Given the description of an element on the screen output the (x, y) to click on. 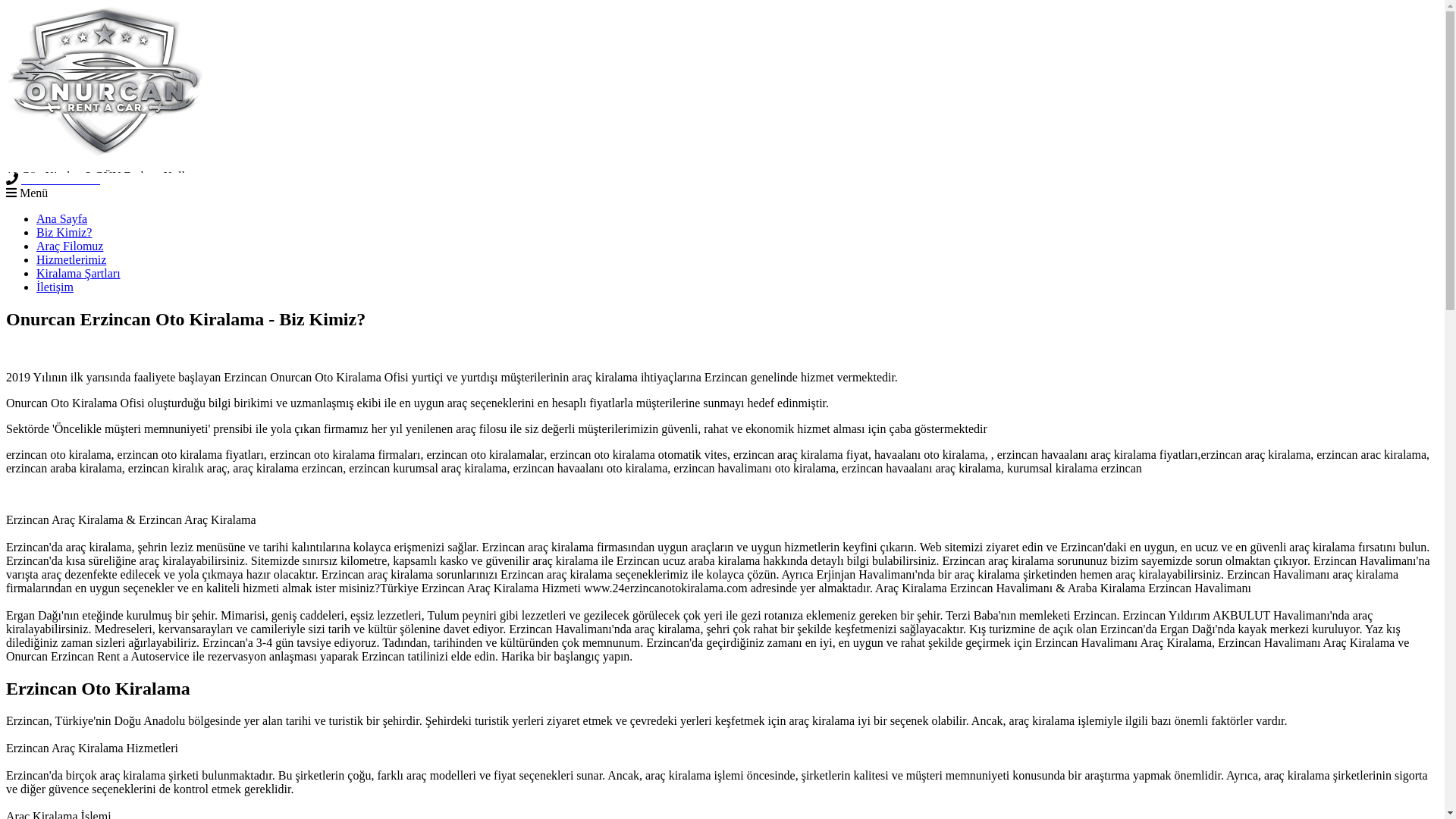
Hizmetlerimiz Element type: text (71, 259)
Ana Sayfa Element type: text (61, 218)
Biz Kimiz? Element type: text (63, 231)
0 553 610 26 64 Element type: text (60, 178)
Onurcan Oto Kiralama Element type: hover (722, 81)
